Given the description of an element on the screen output the (x, y) to click on. 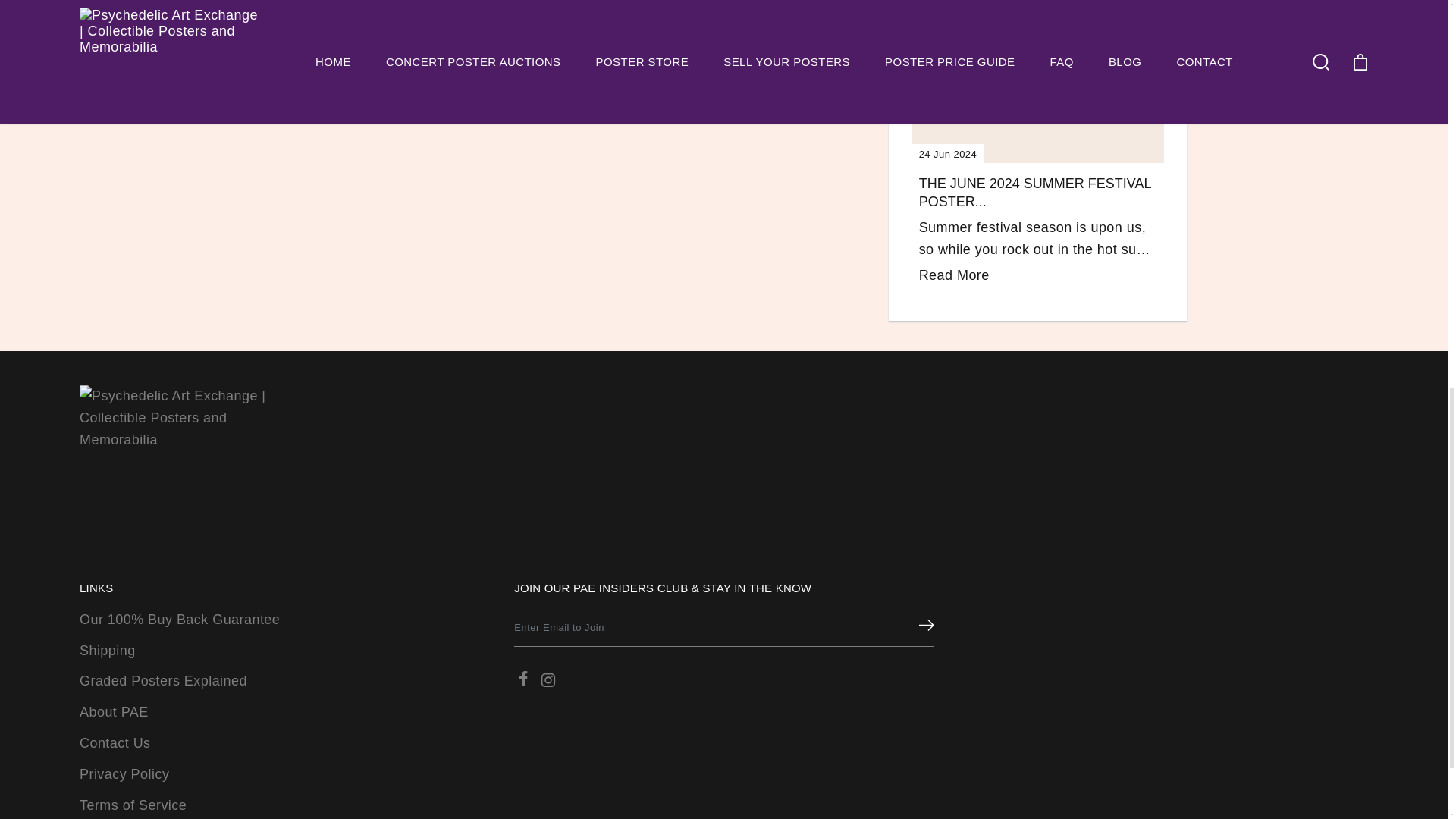
24 Jun 2024 (1037, 81)
Read More (954, 274)
THE JUNE 2024 SUMMER FESTIVAL POSTER... (1034, 192)
Shipping (107, 650)
The June 2024 Summer Festival Poster Mega Auction (1037, 81)
